Given the description of an element on the screen output the (x, y) to click on. 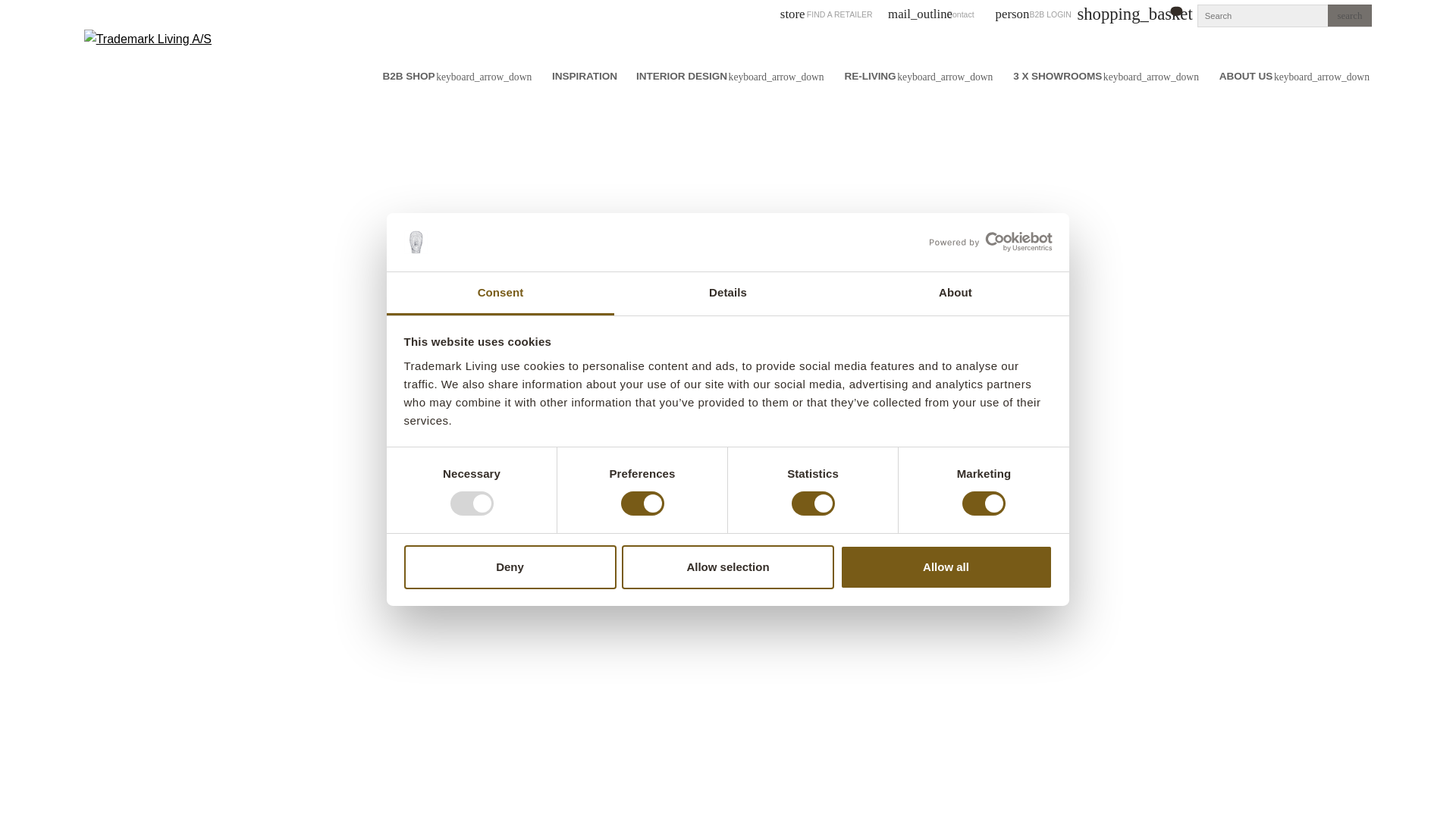
Instagram (727, 555)
Details (727, 293)
Facebook (624, 555)
Deny (509, 566)
LinkedIn (779, 555)
About (954, 293)
Instagram (675, 555)
Consent (500, 293)
